Given the description of an element on the screen output the (x, y) to click on. 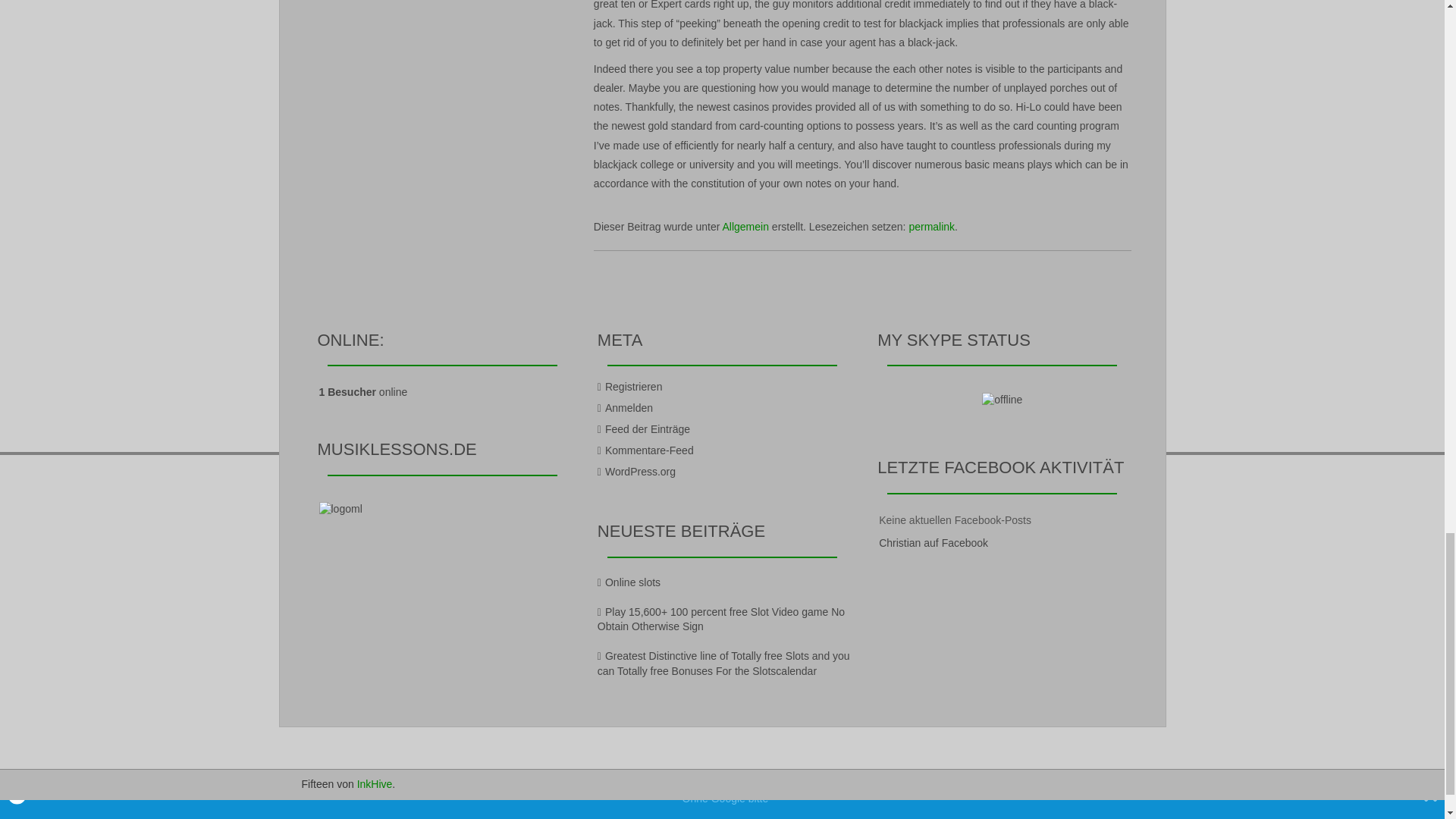
WP2Social Auto Publish (665, 804)
Allgemein (745, 226)
